Given the description of an element on the screen output the (x, y) to click on. 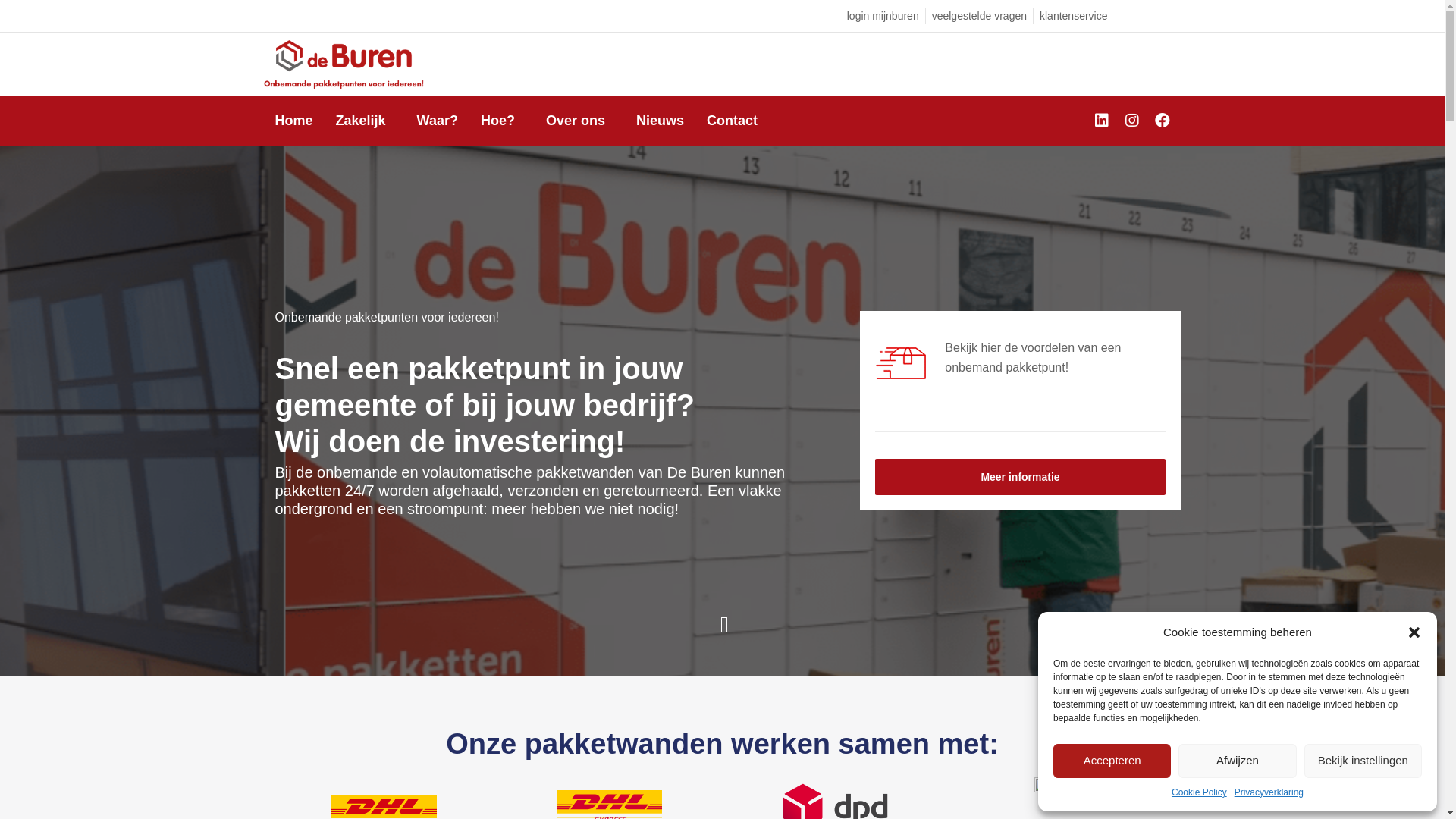
Bekijk instellingen Element type: text (1362, 760)
Hoe? Element type: text (501, 120)
Meer informatie Element type: text (1020, 476)
login mijnburen Element type: text (883, 15)
Zakelijk Element type: text (364, 120)
Over ons Element type: text (579, 120)
Accepteren Element type: text (1111, 760)
Contact Element type: text (731, 120)
Waar? Element type: text (437, 120)
Home Element type: text (293, 120)
Nieuws Element type: text (659, 120)
klantenservice Element type: text (1073, 15)
Cookie Policy Element type: text (1198, 792)
Afwijzen Element type: text (1236, 760)
veelgestelde vragen Element type: text (978, 15)
Privacyverklaring Element type: text (1268, 792)
